Given the description of an element on the screen output the (x, y) to click on. 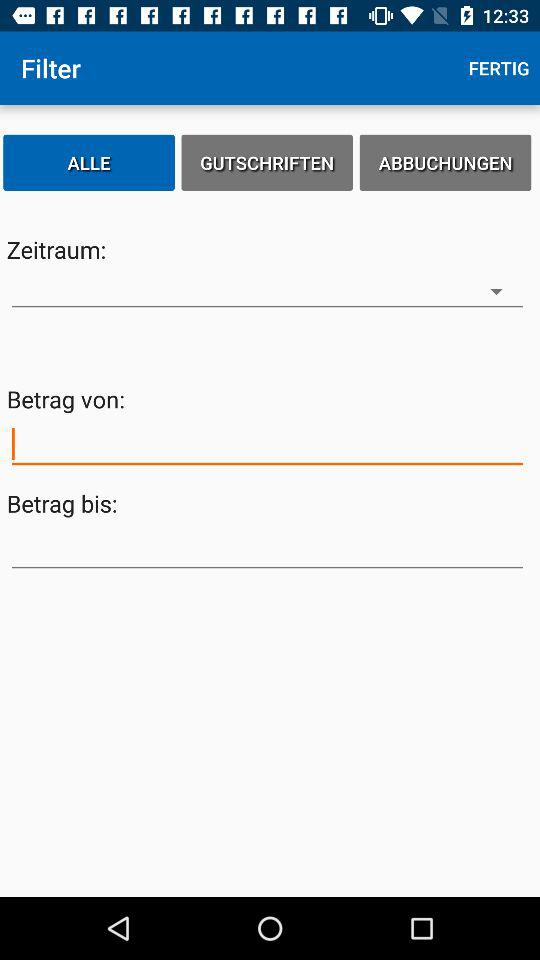
swipe to the abbuchungen icon (445, 162)
